Given the description of an element on the screen output the (x, y) to click on. 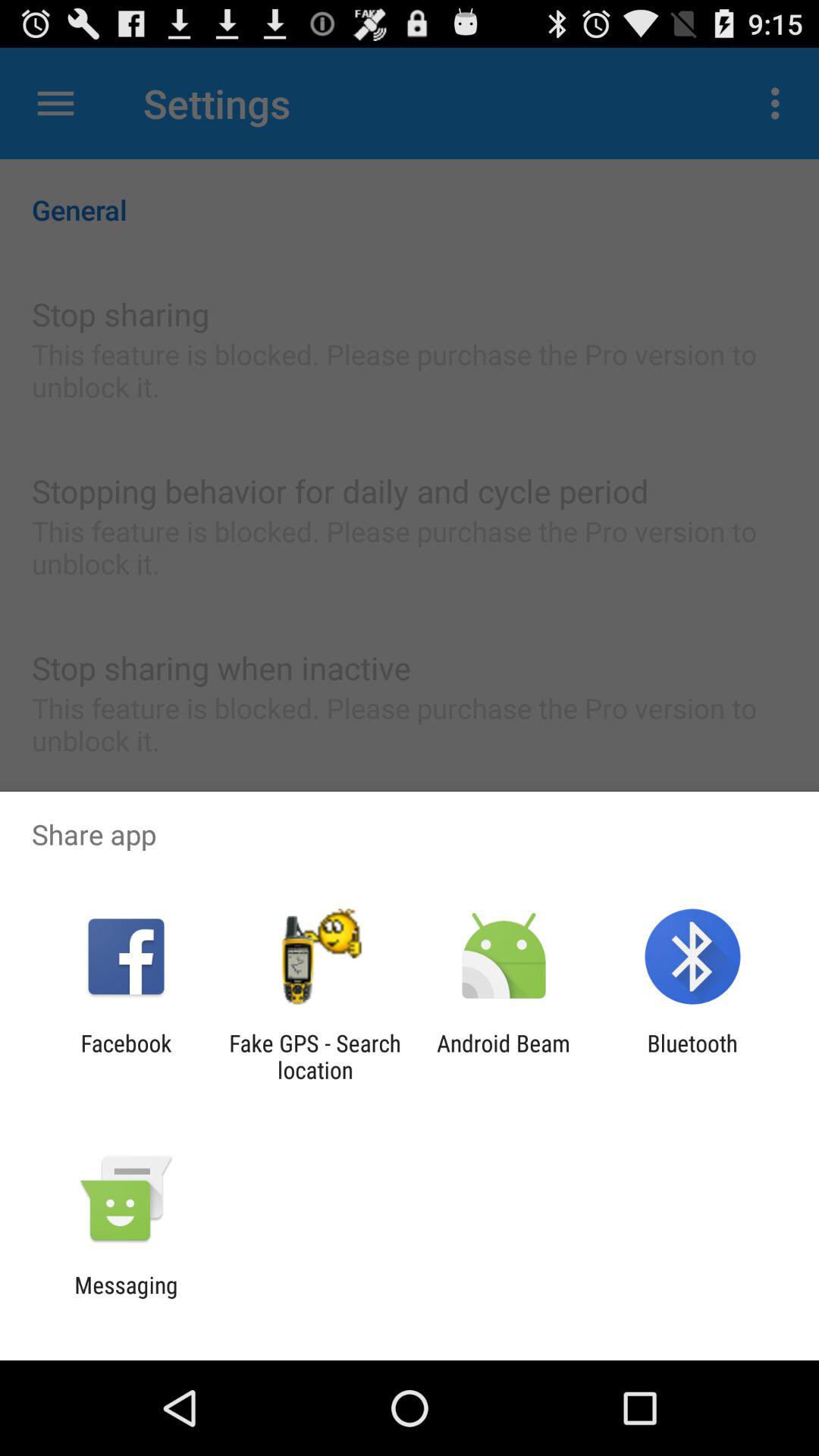
swipe until facebook app (125, 1056)
